Given the description of an element on the screen output the (x, y) to click on. 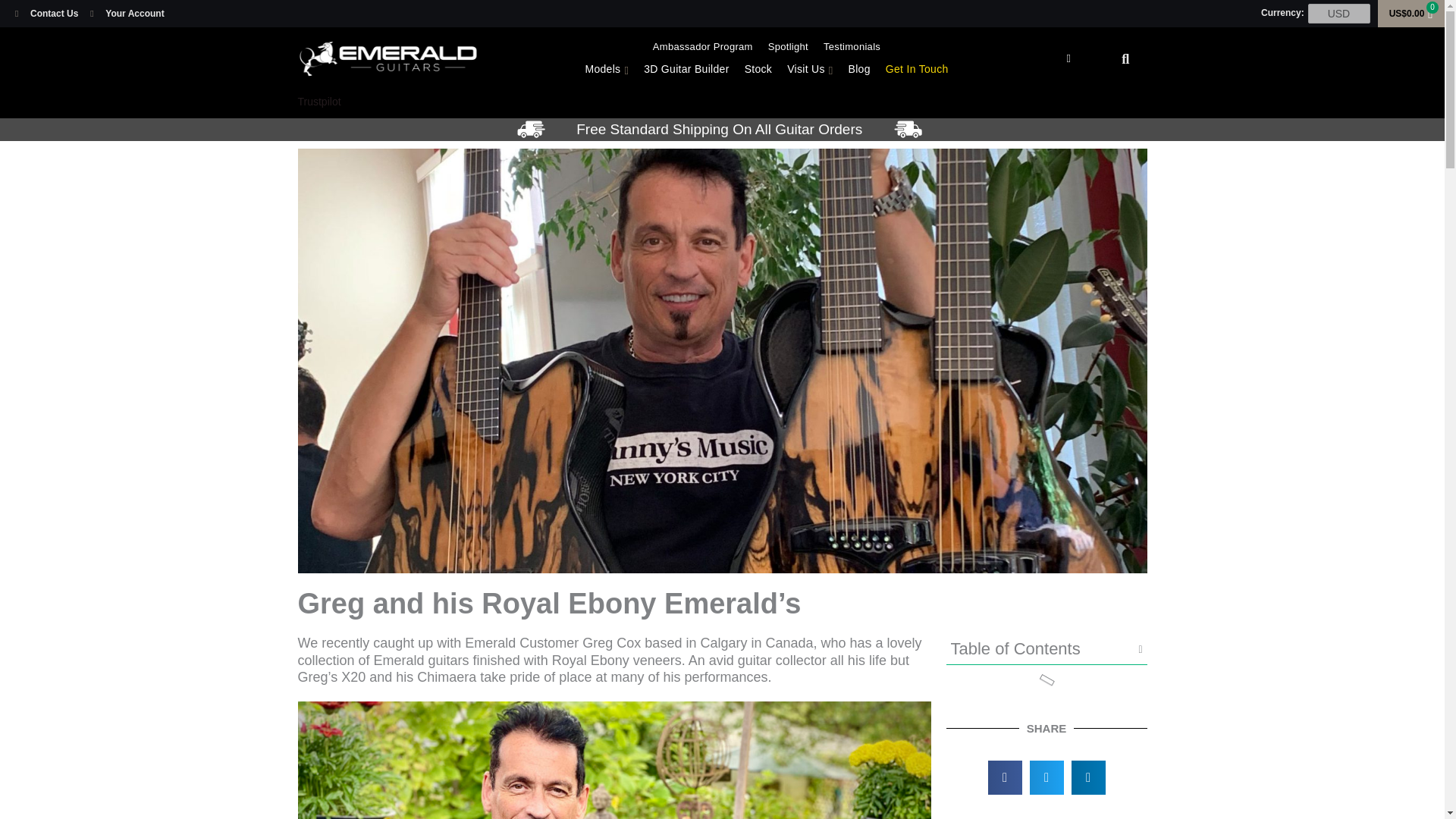
3D Guitar Builder (686, 69)
Stock (758, 69)
Spotlight (787, 46)
Your Account (126, 13)
Models (606, 69)
Contact Us (46, 13)
Ambassador Program (702, 46)
Testimonials (851, 46)
Visit Us (809, 69)
